Given the description of an element on the screen output the (x, y) to click on. 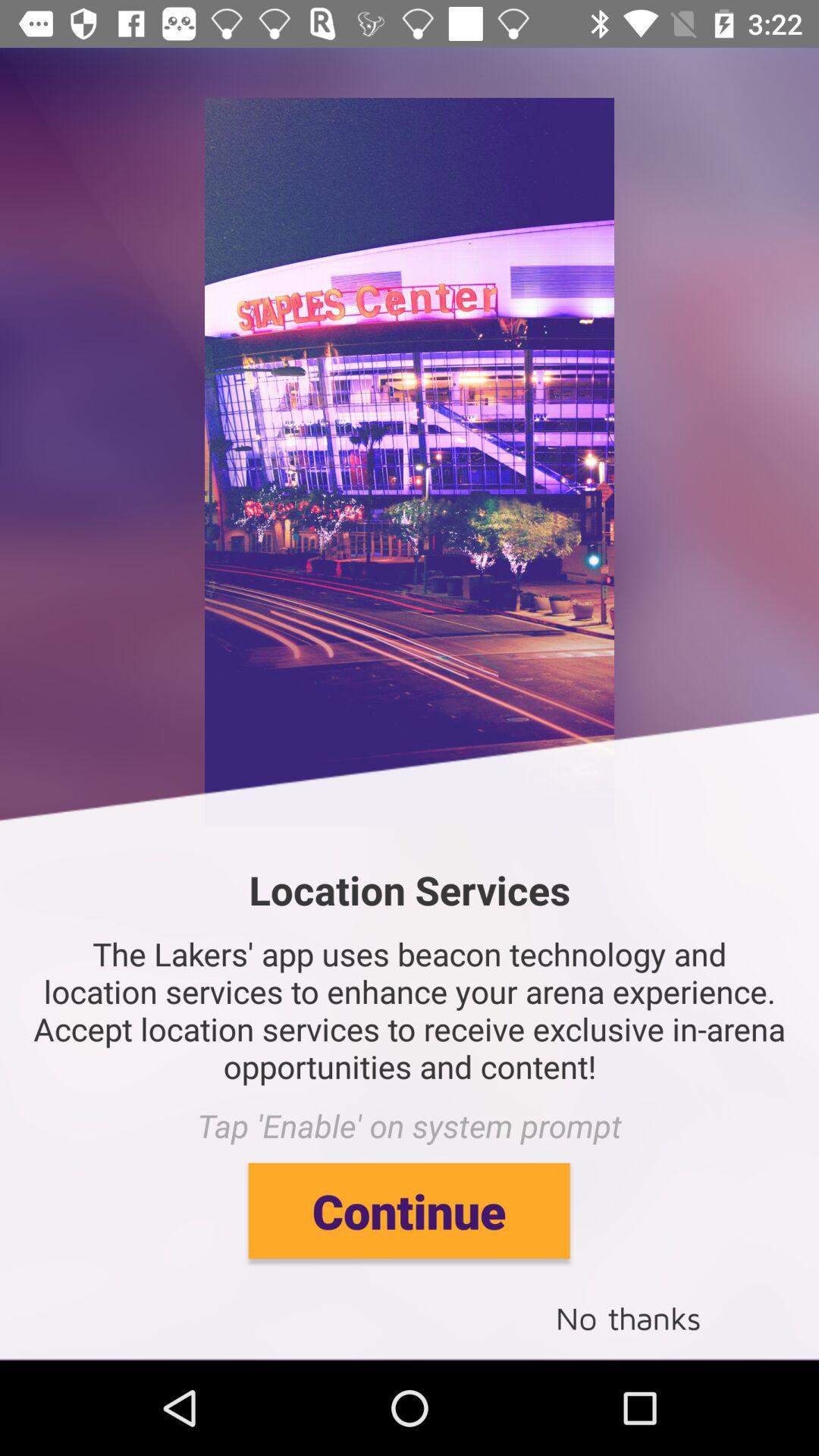
jump to continue (408, 1210)
